Given the description of an element on the screen output the (x, y) to click on. 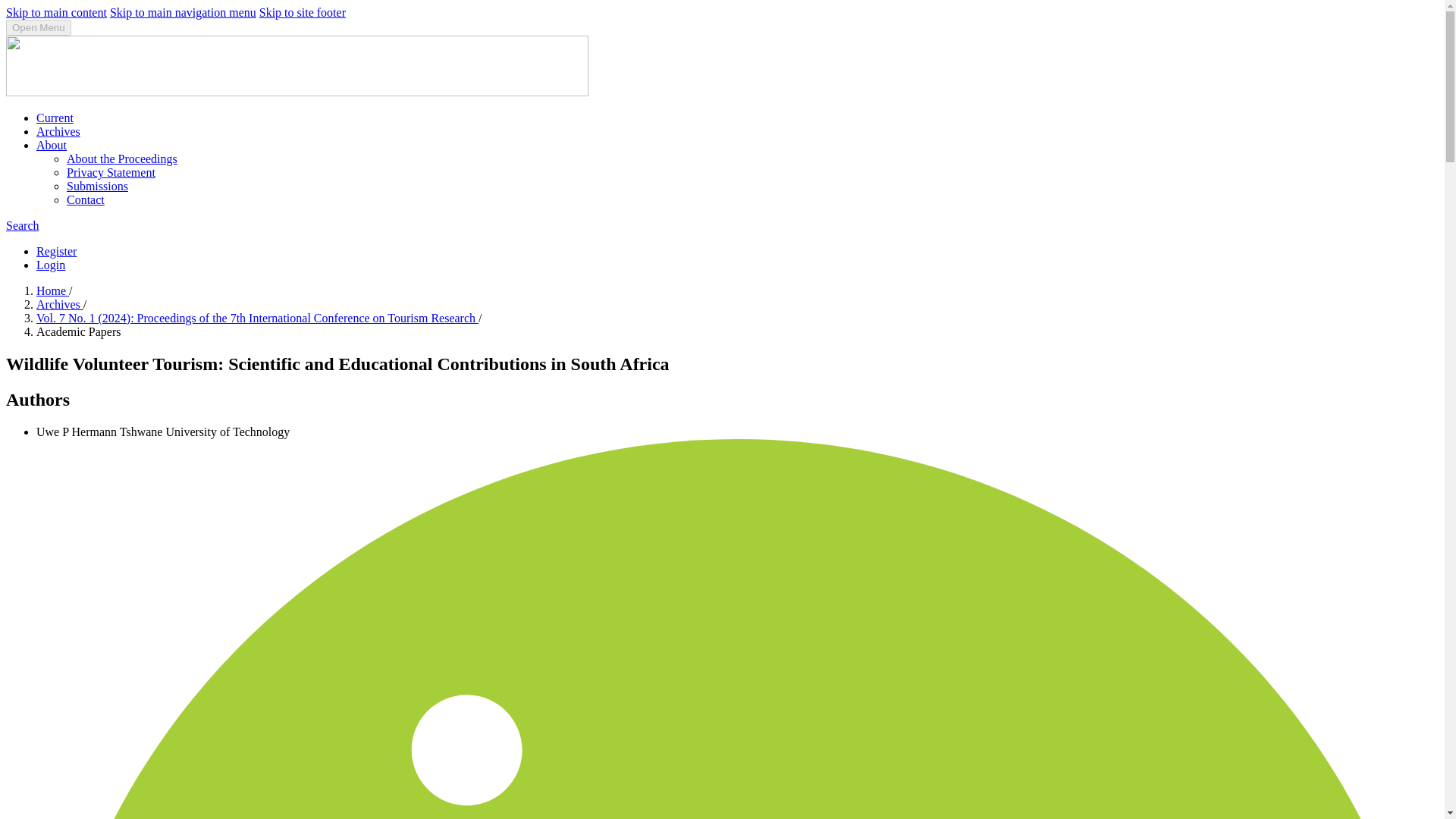
Archives (59, 304)
About (51, 144)
Open Menu (38, 27)
Register (56, 250)
Archives (58, 131)
Skip to main content (55, 11)
Contact (85, 199)
Login (50, 264)
Current (55, 117)
Search (22, 225)
About the Proceedings (121, 158)
Skip to main navigation menu (183, 11)
Home (52, 290)
Submissions (97, 185)
Privacy Statement (110, 172)
